Given the description of an element on the screen output the (x, y) to click on. 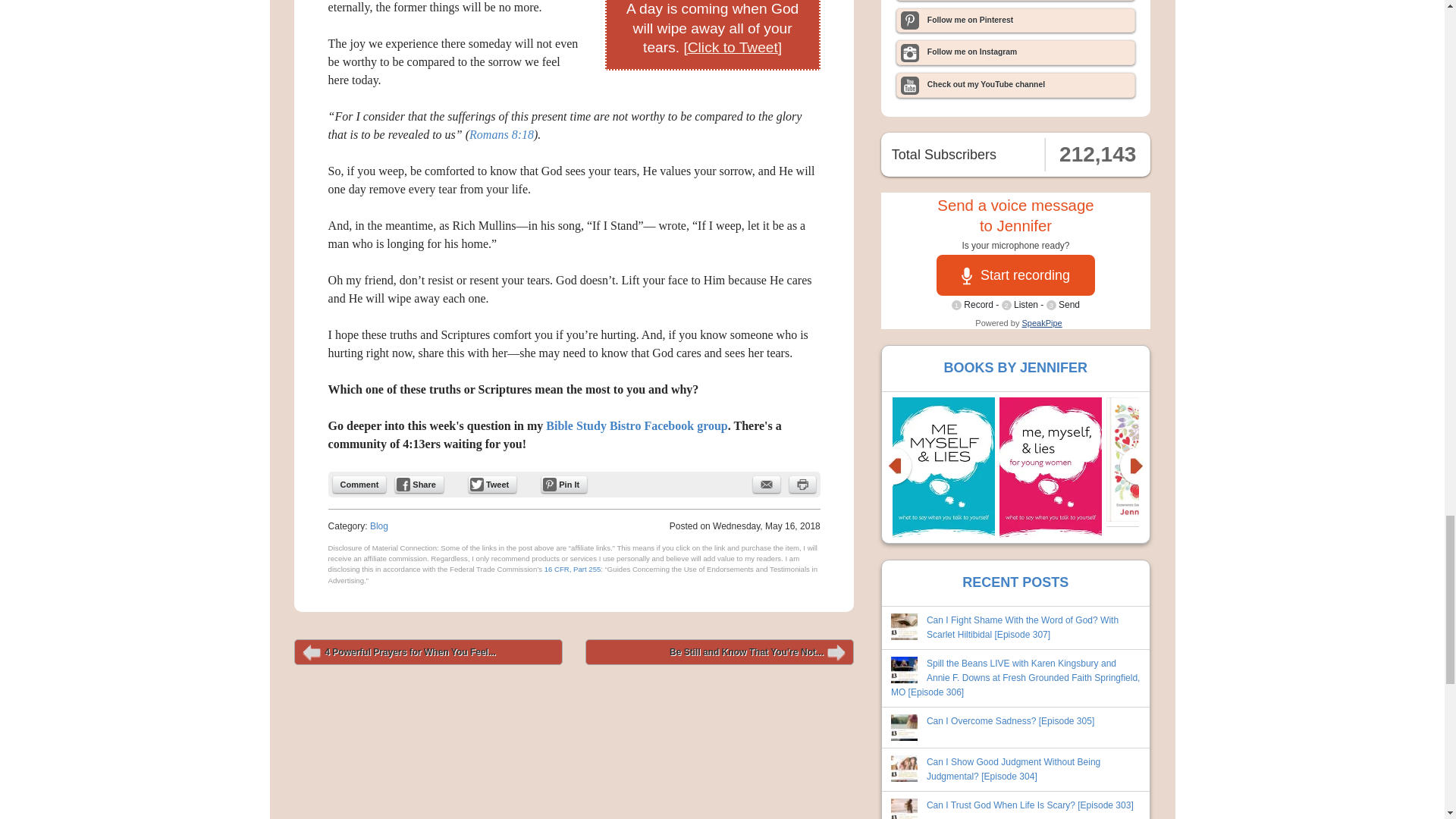
Tweet this Post (492, 484)
Comment on this Post (360, 484)
Pin it. (563, 484)
Share on Facebook (419, 484)
